Given the description of an element on the screen output the (x, y) to click on. 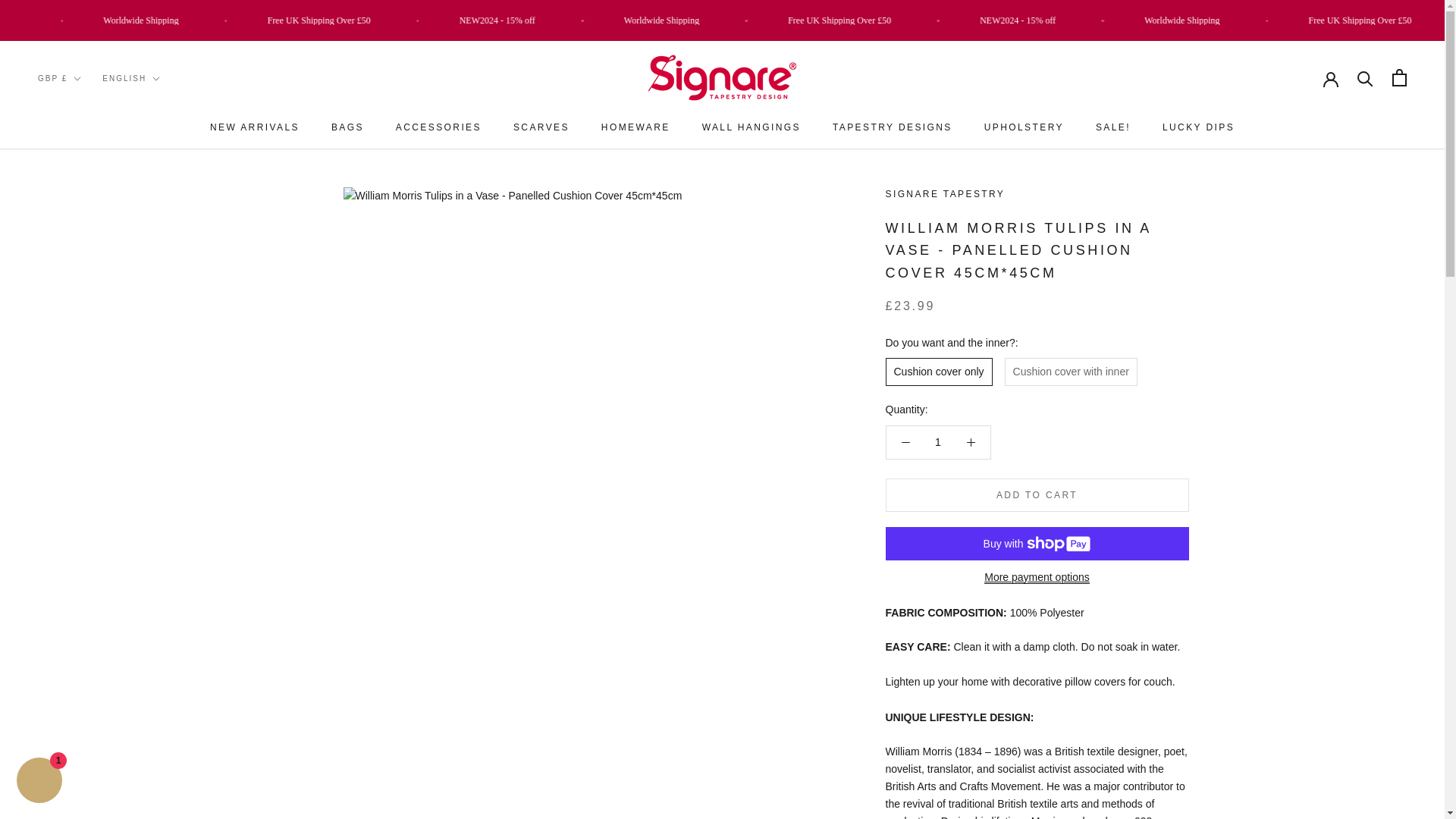
Shopify online store chat (38, 781)
1 (938, 441)
